Given the description of an element on the screen output the (x, y) to click on. 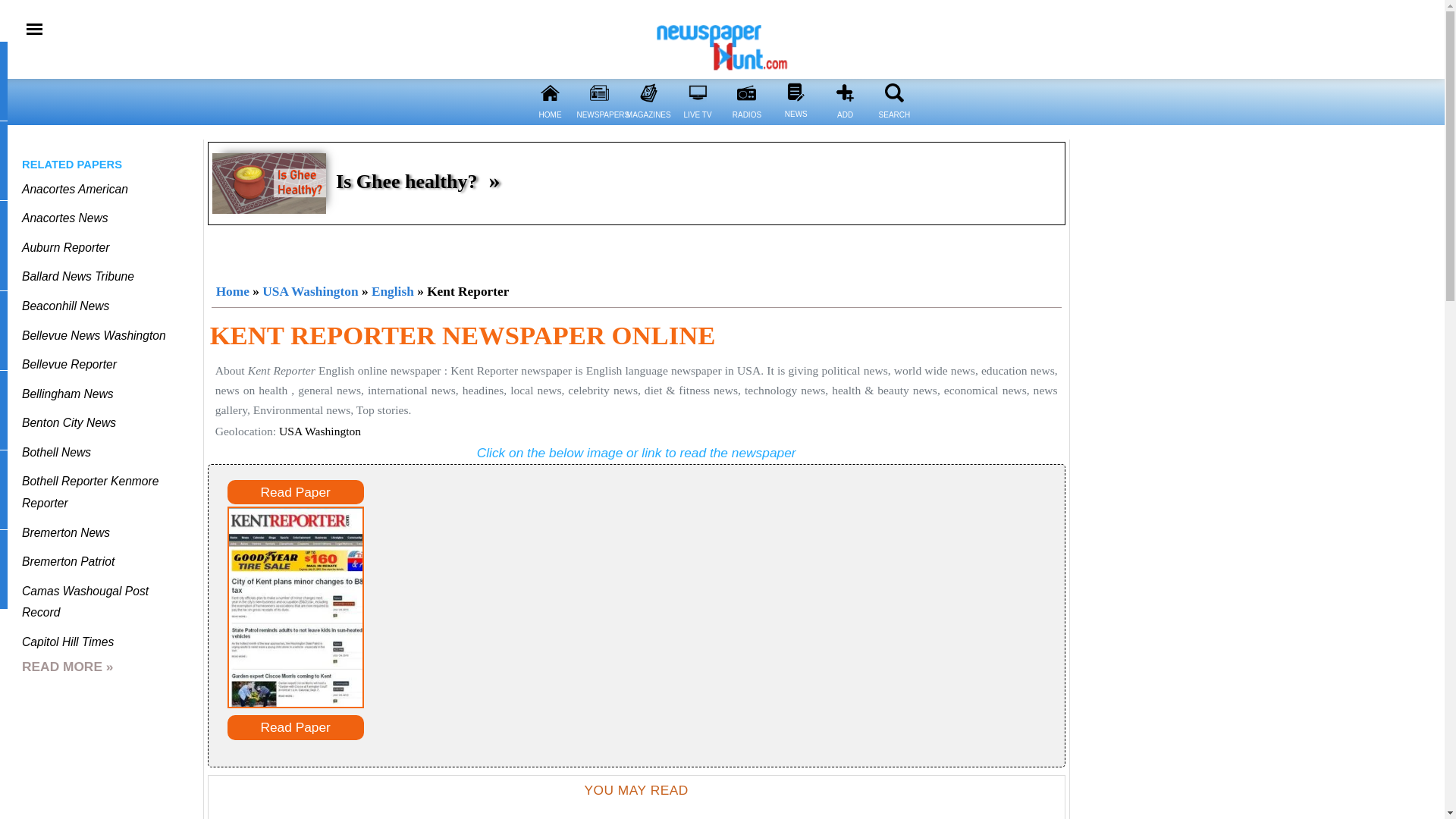
SEARCH (893, 124)
ADD (844, 124)
Bellevue News Washington (93, 335)
LIVE TV (697, 124)
Auburn Reporter (65, 246)
Bremerton News (65, 532)
English Newspapers in usa-washington (392, 291)
NEWS (795, 123)
RADIOS (746, 124)
Bellevue Reporter (68, 364)
